Given the description of an element on the screen output the (x, y) to click on. 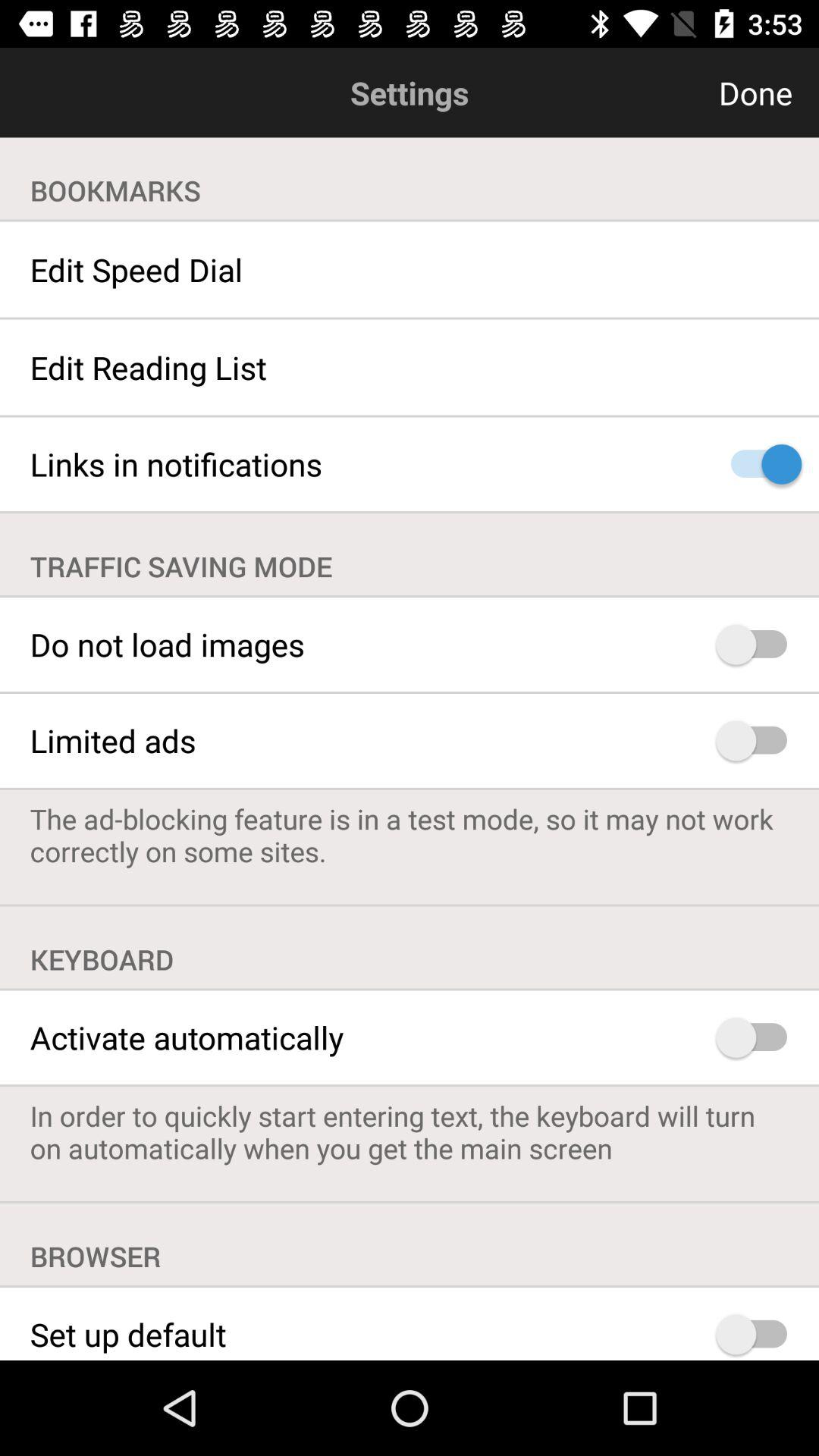
toggle advertisement option (758, 740)
